Given the description of an element on the screen output the (x, y) to click on. 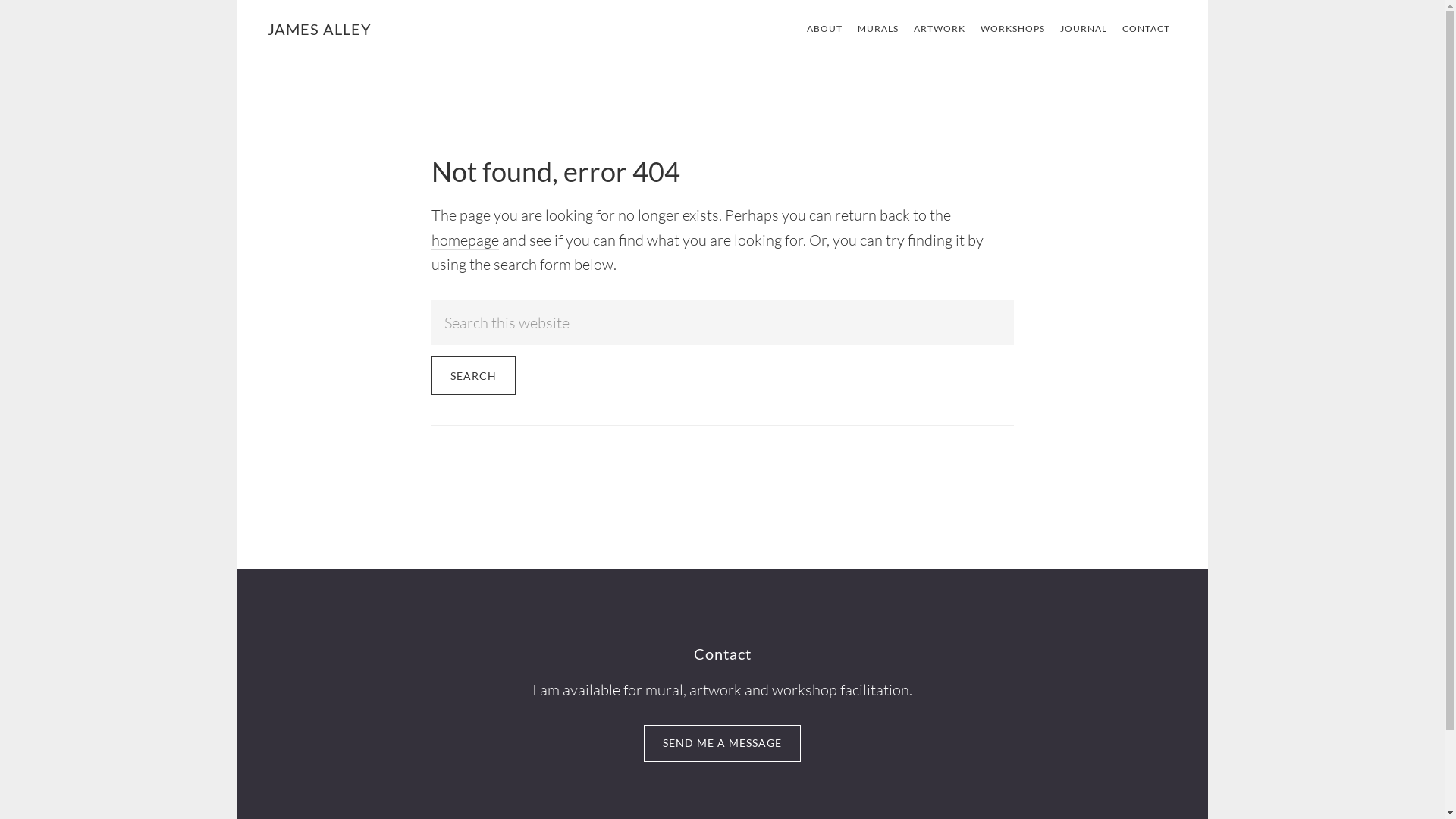
JOURNAL Element type: text (1083, 28)
WORKSHOPS Element type: text (1011, 28)
ABOUT Element type: text (824, 28)
Search Element type: text (472, 375)
JAMES ALLEY Element type: text (318, 28)
CONTACT Element type: text (1145, 28)
MURALS Element type: text (877, 28)
ARTWORK Element type: text (938, 28)
homepage Element type: text (464, 240)
SEND ME A MESSAGE Element type: text (721, 743)
Skip to main content Element type: text (236, 0)
